Given the description of an element on the screen output the (x, y) to click on. 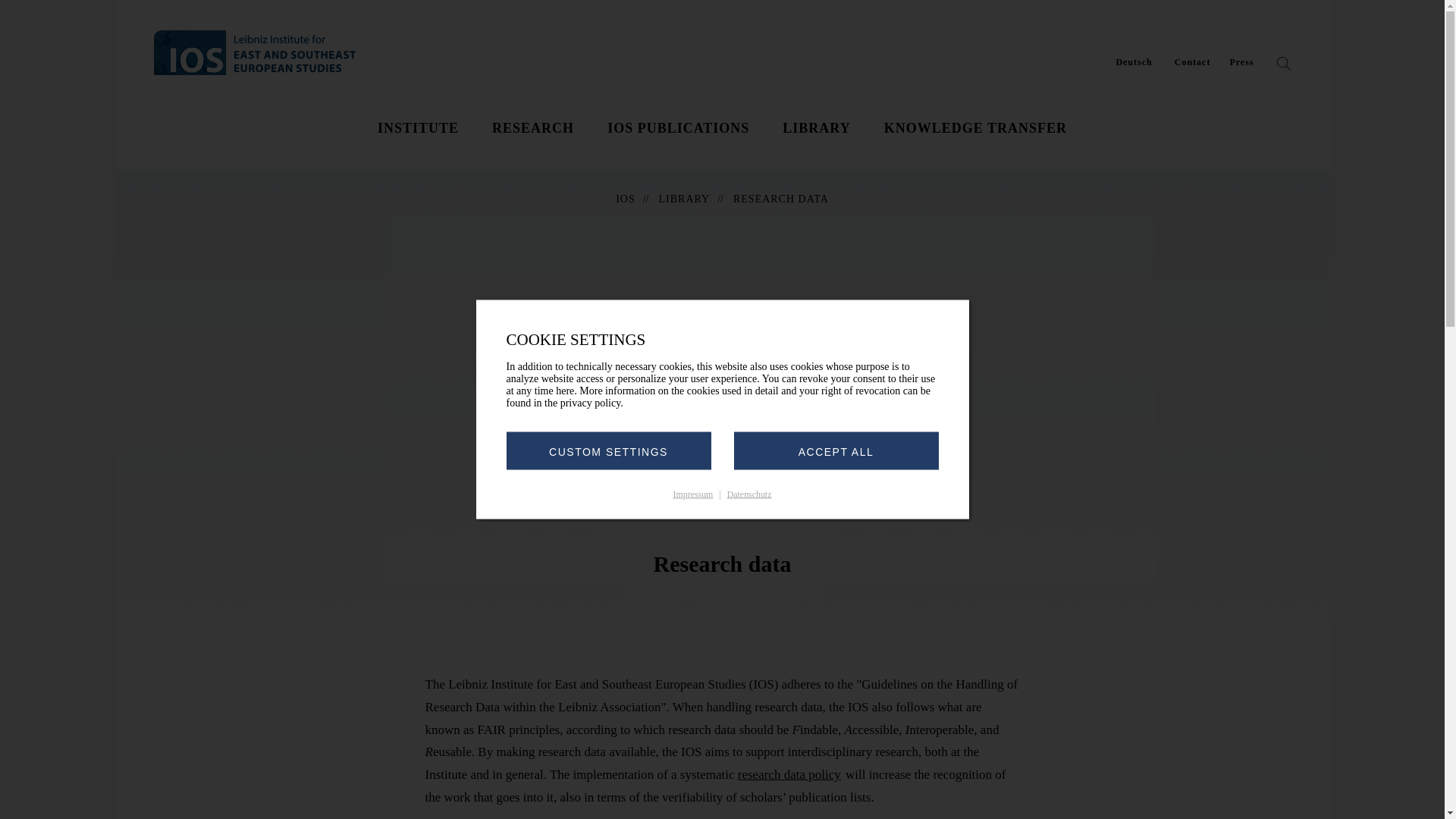
INSTITUTE (417, 127)
Knowledge Transfer (975, 127)
Library (816, 127)
Contact (1192, 62)
Press (1240, 62)
Deutsch (1133, 62)
LIBRARY (816, 127)
Contact (1192, 62)
IOS PUBLICATIONS (678, 127)
Press (1240, 62)
